Given the description of an element on the screen output the (x, y) to click on. 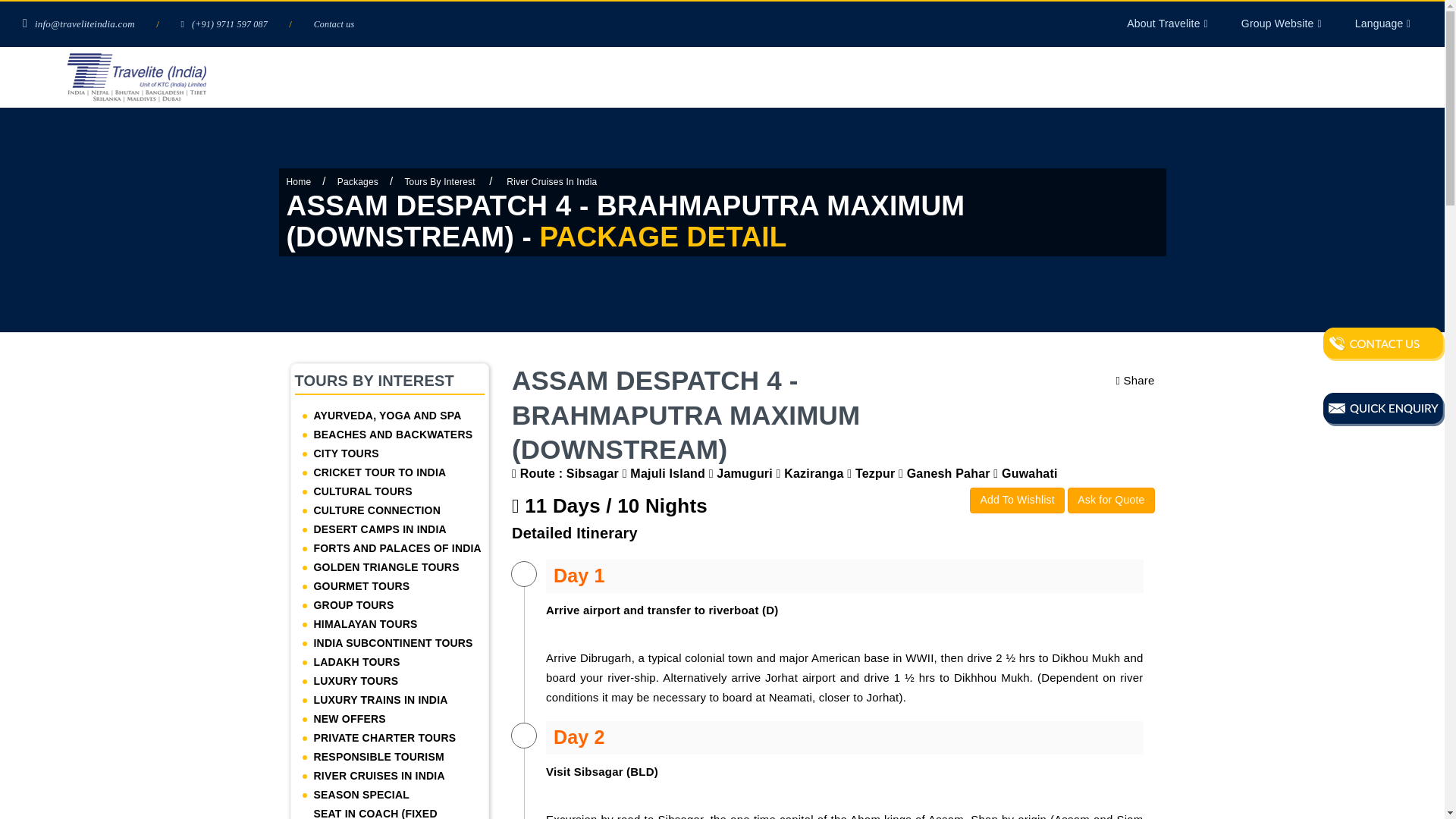
Language (1388, 23)
About Travelite (1173, 23)
Group Website (1287, 23)
Contact us (334, 23)
